Given the description of an element on the screen output the (x, y) to click on. 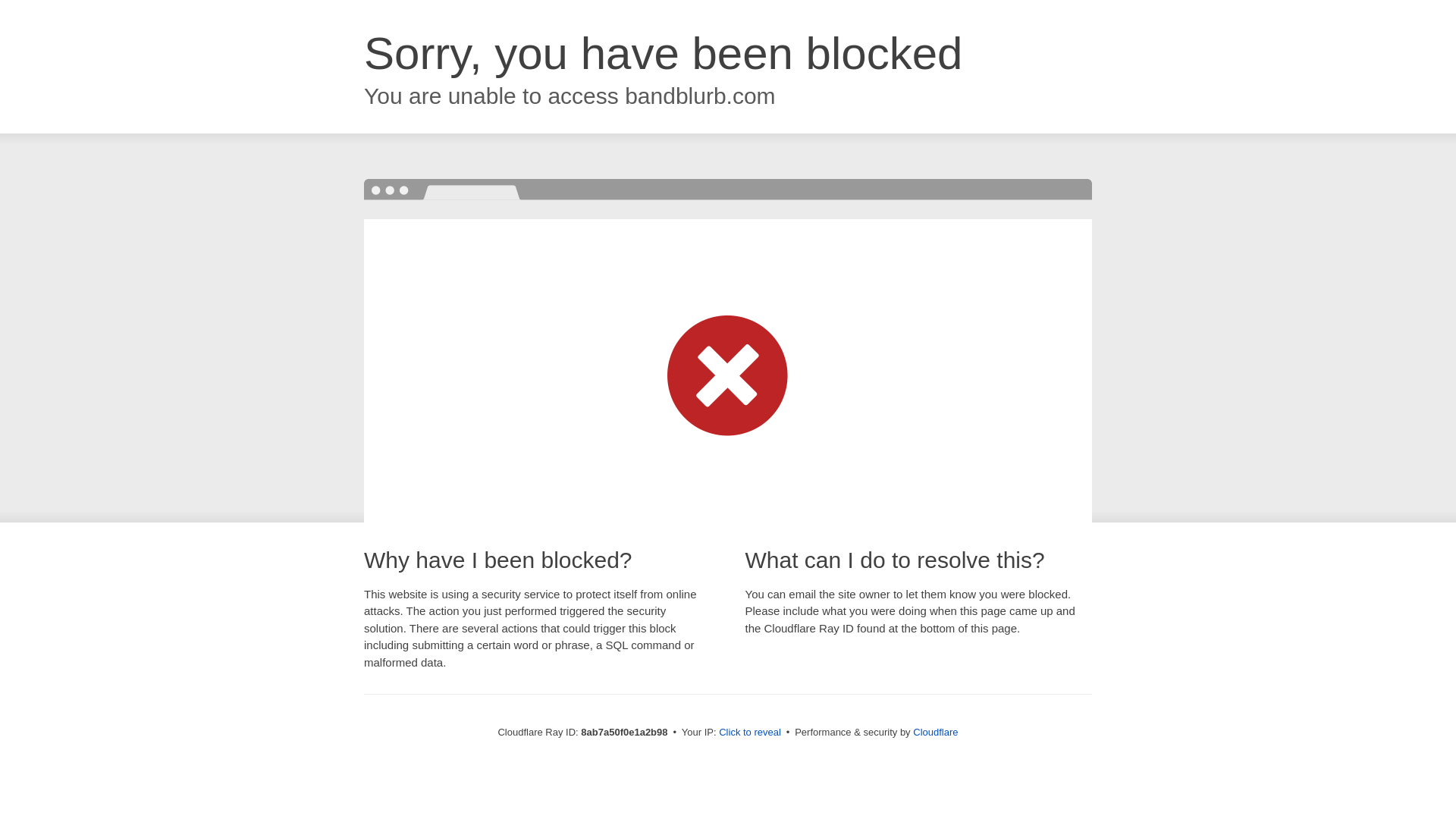
Cloudflare (935, 731)
Click to reveal (749, 732)
